Given the description of an element on the screen output the (x, y) to click on. 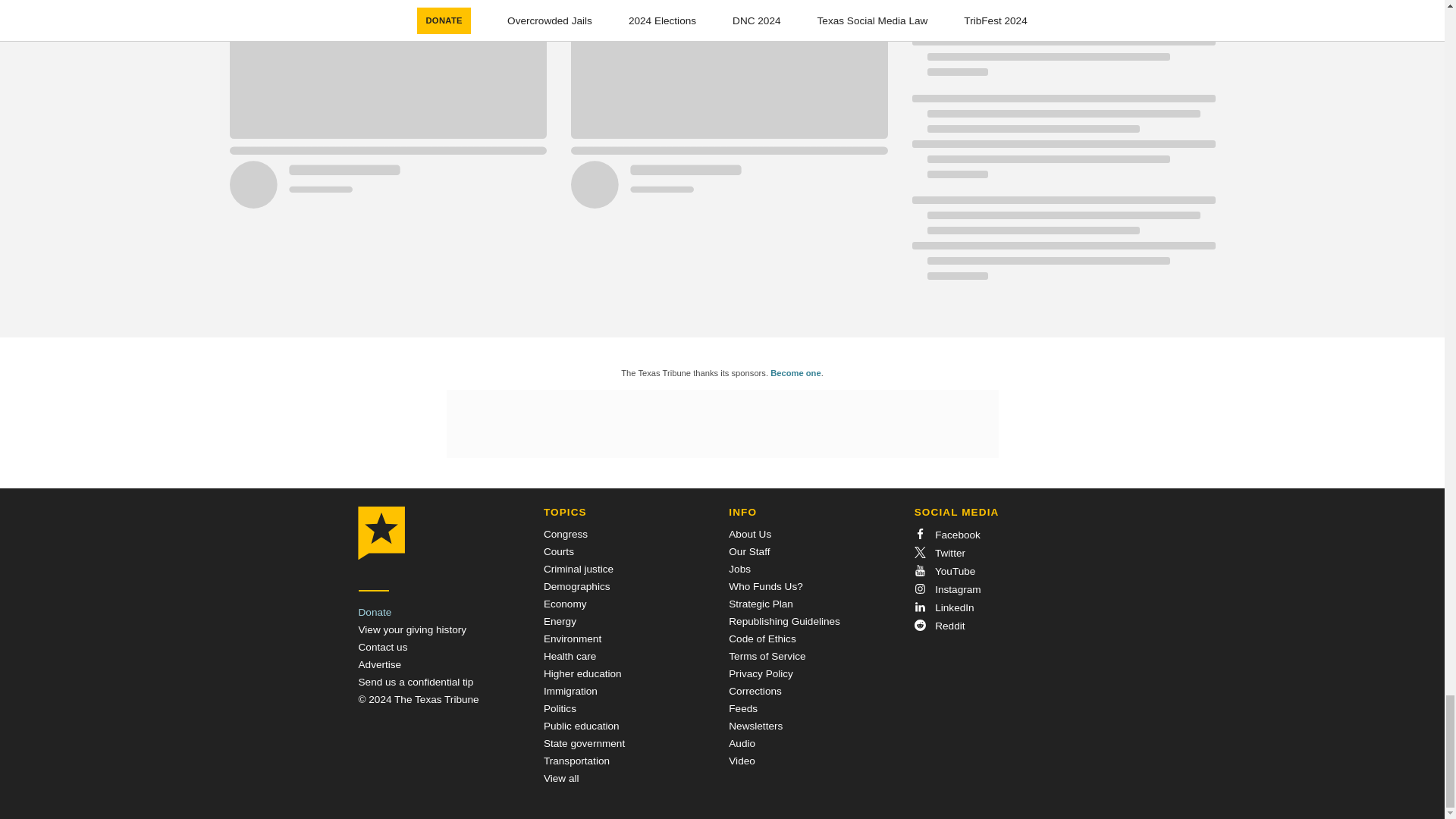
Feeds (743, 708)
Terms of Service (767, 655)
Donate (374, 612)
Privacy Policy (761, 673)
Corrections (755, 690)
Who Funds Us? (765, 586)
Code of Ethics (761, 638)
View your giving history (411, 629)
Contact us (382, 646)
Republishing Guidelines (784, 621)
